Given the description of an element on the screen output the (x, y) to click on. 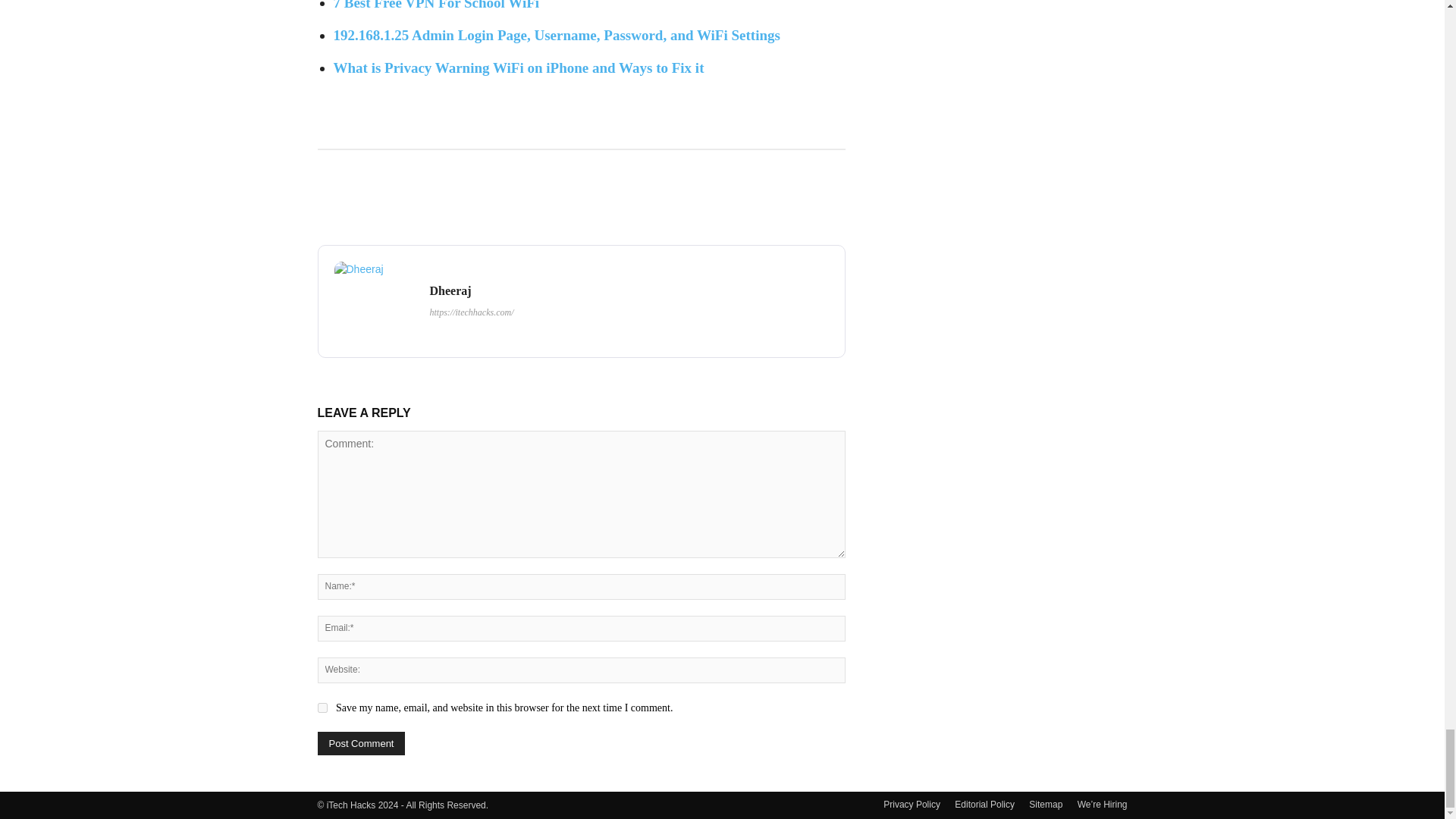
Post Comment (360, 743)
yes (321, 707)
